Given the description of an element on the screen output the (x, y) to click on. 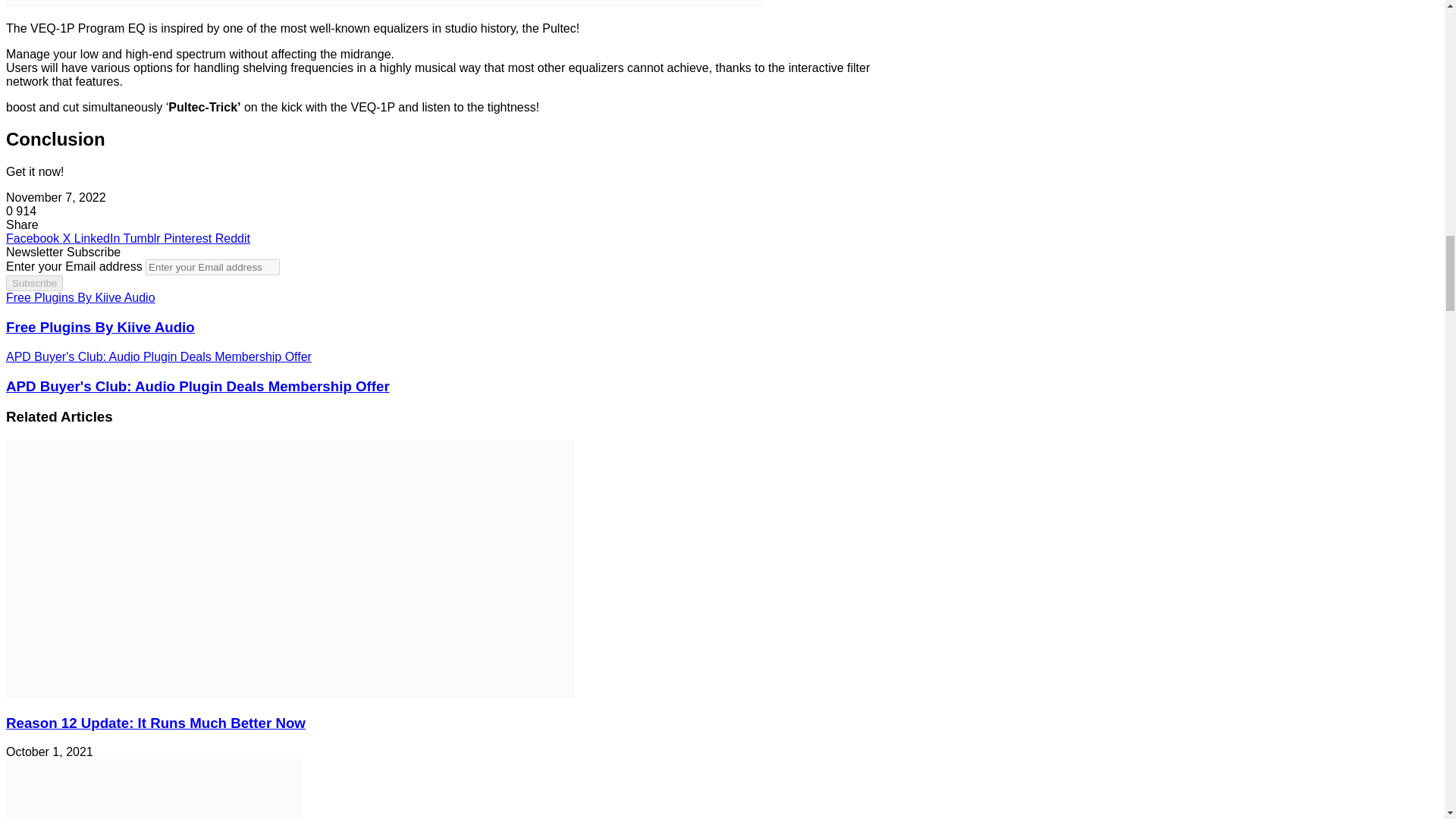
Facebook (33, 237)
Subscribe (33, 283)
LinkedIn (98, 237)
Free Plugins By Kiive Audio (441, 297)
APD Buyer's Club: Audio Plugin Deals Membership Offer (441, 385)
Tumblr (142, 237)
Subscribe (33, 283)
Reddit (232, 237)
APD Buyer's Club: Audio Plugin Deals Membership Offer (441, 356)
Pinterest (189, 237)
Facebook (33, 237)
Free Plugins By Kiive Audio (441, 327)
LinkedIn (98, 237)
